Given the description of an element on the screen output the (x, y) to click on. 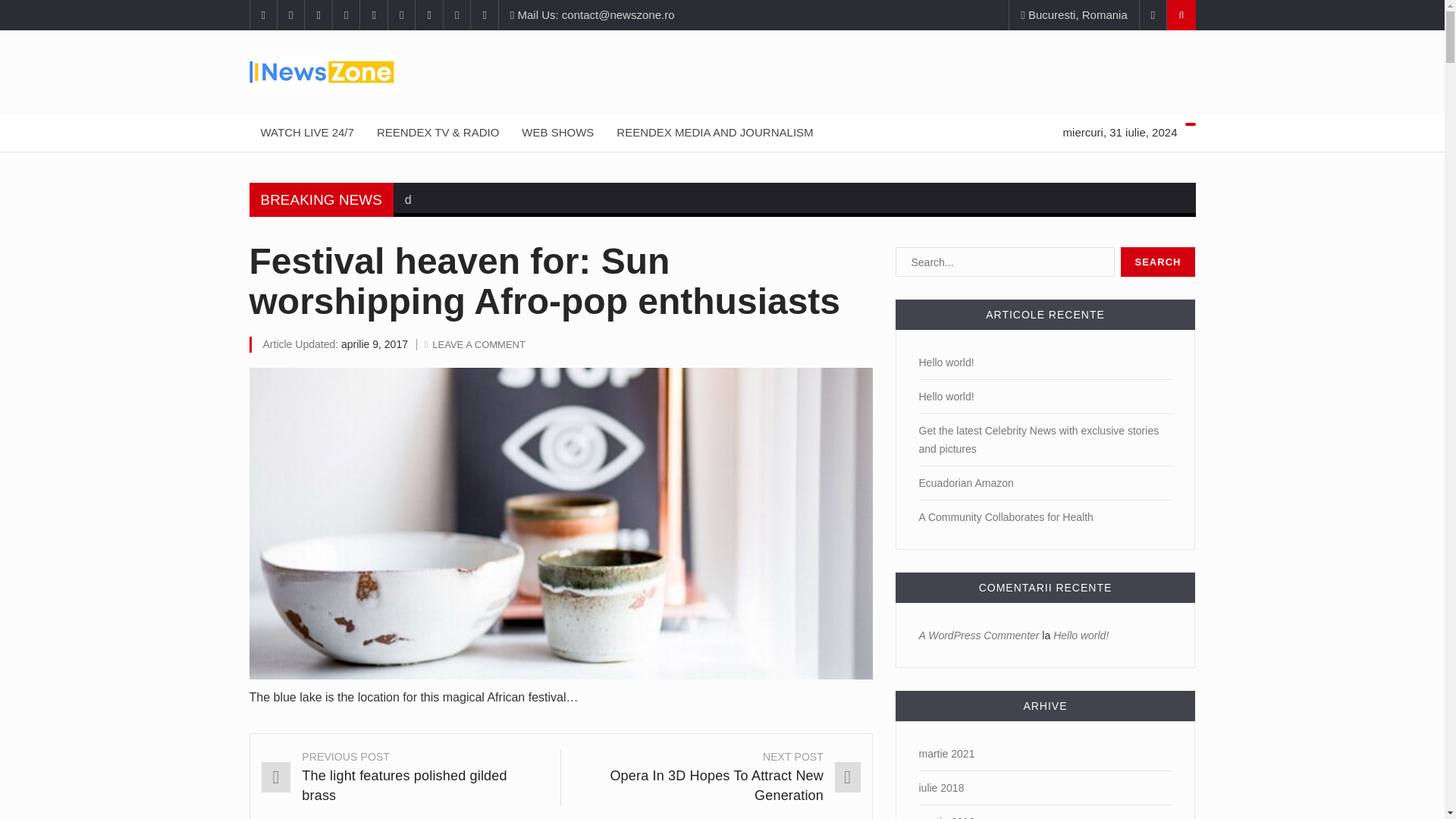
WEB SHOWS (558, 132)
Search (1158, 261)
Newszone (721, 71)
REENDEX MEDIA AND JOURNALISM (714, 132)
Search (1158, 261)
Bucuresti, Romania (1073, 15)
